Given the description of an element on the screen output the (x, y) to click on. 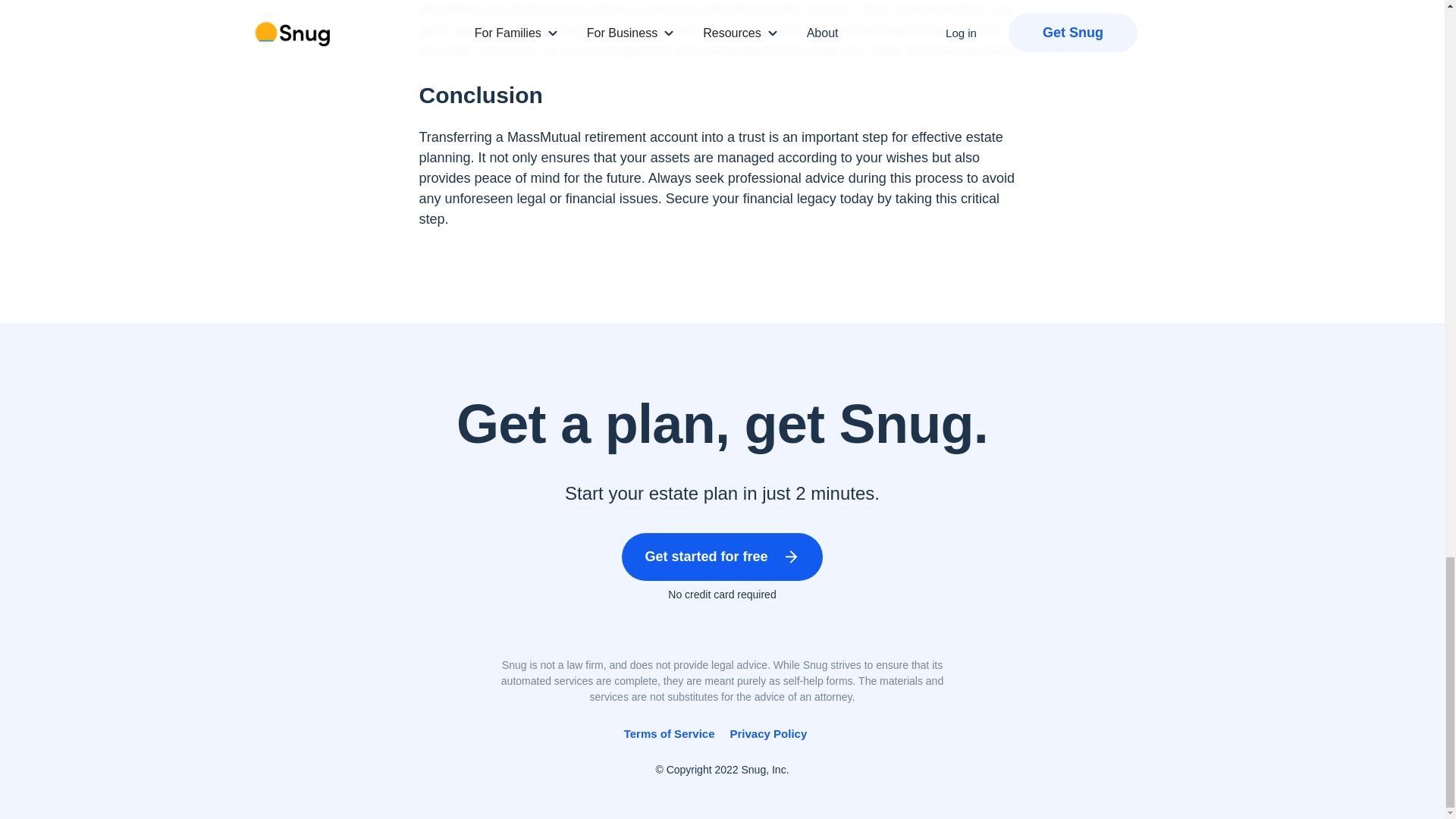
Get started for free (721, 556)
Privacy Policy (767, 733)
Terms of Service (669, 733)
